Given the description of an element on the screen output the (x, y) to click on. 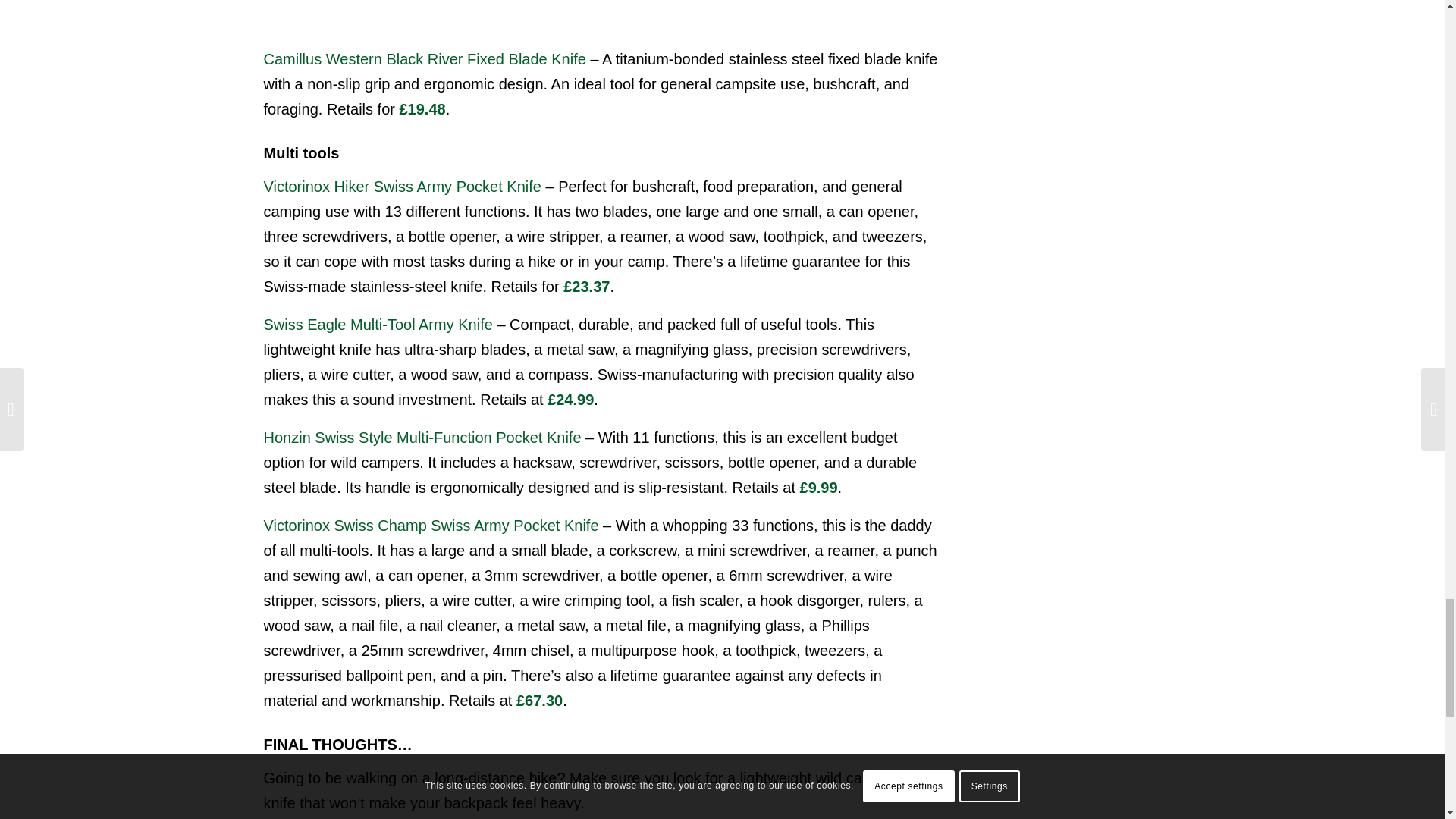
Victorinox Hiker Swiss Army Pocket Knife (402, 186)
Honzin Swiss Style Multi-Function Pocket Knife (421, 437)
Swiss Eagle Multi-Tool Army Knife (378, 324)
Victorinox Swiss Champ Swiss Army Pocket Knife (430, 524)
Camillus Western Black River Fixed Blade Knife (424, 58)
